Given the description of an element on the screen output the (x, y) to click on. 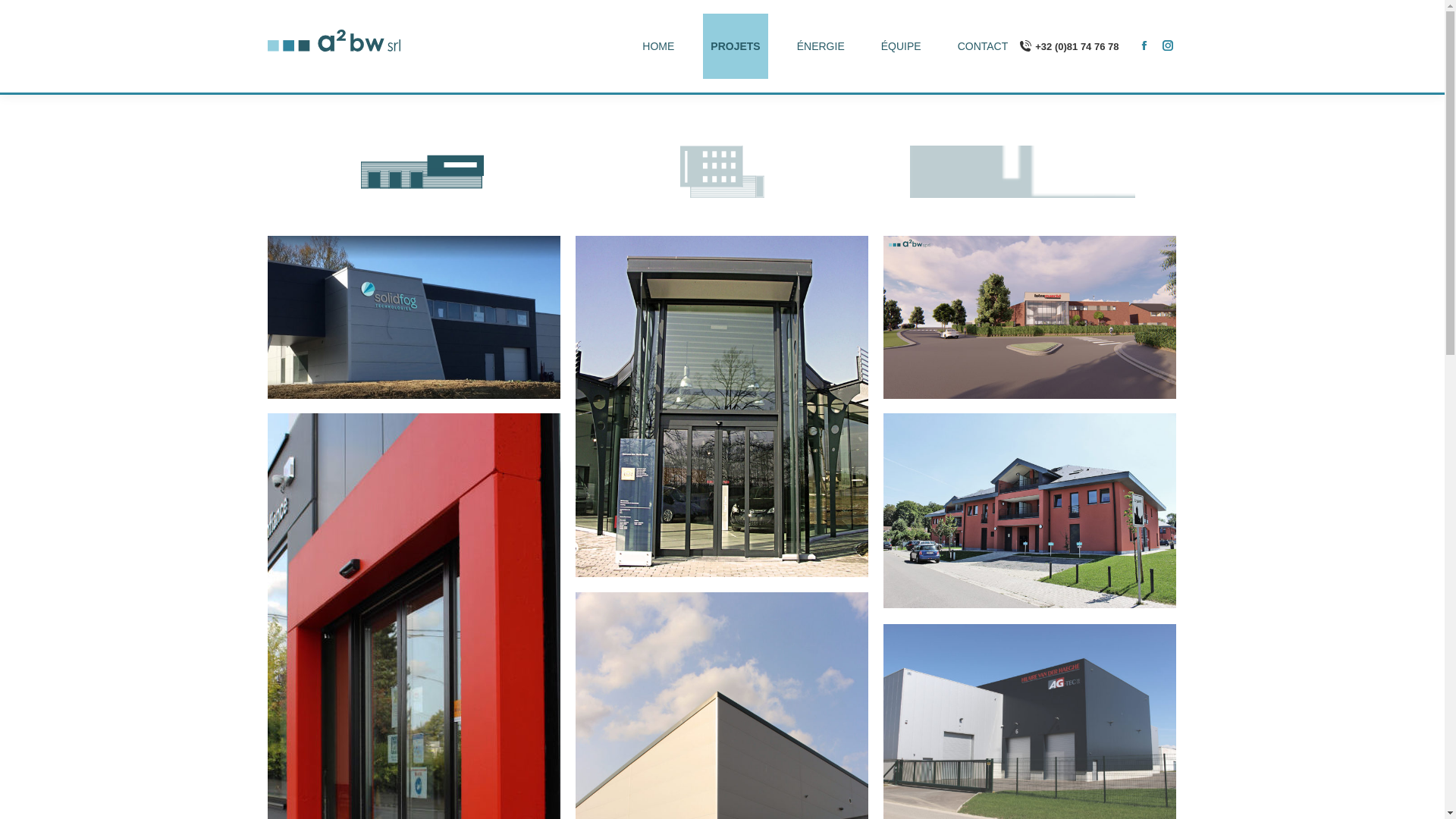
Instagram page opens in new window Element type: hover (1166, 44)
+32 (0)81 74 76 78 Element type: text (1068, 45)
Communautaire Element type: text (721, 171)
IMG_0995 Element type: hover (1028, 510)
Facebook page opens in new window Element type: hover (1144, 44)
A2bw_Declercq_MarcheMotor004_386x450 Element type: hover (720, 406)
Industriel Element type: text (421, 171)
A2bw_Intermarche_386x215 Element type: hover (1028, 316)
PROJETS Element type: text (734, 45)
Solidfog_720x430_crop Element type: hover (412, 316)
HOME Element type: text (657, 45)
CONTACT Element type: text (983, 45)
